Given the description of an element on the screen output the (x, y) to click on. 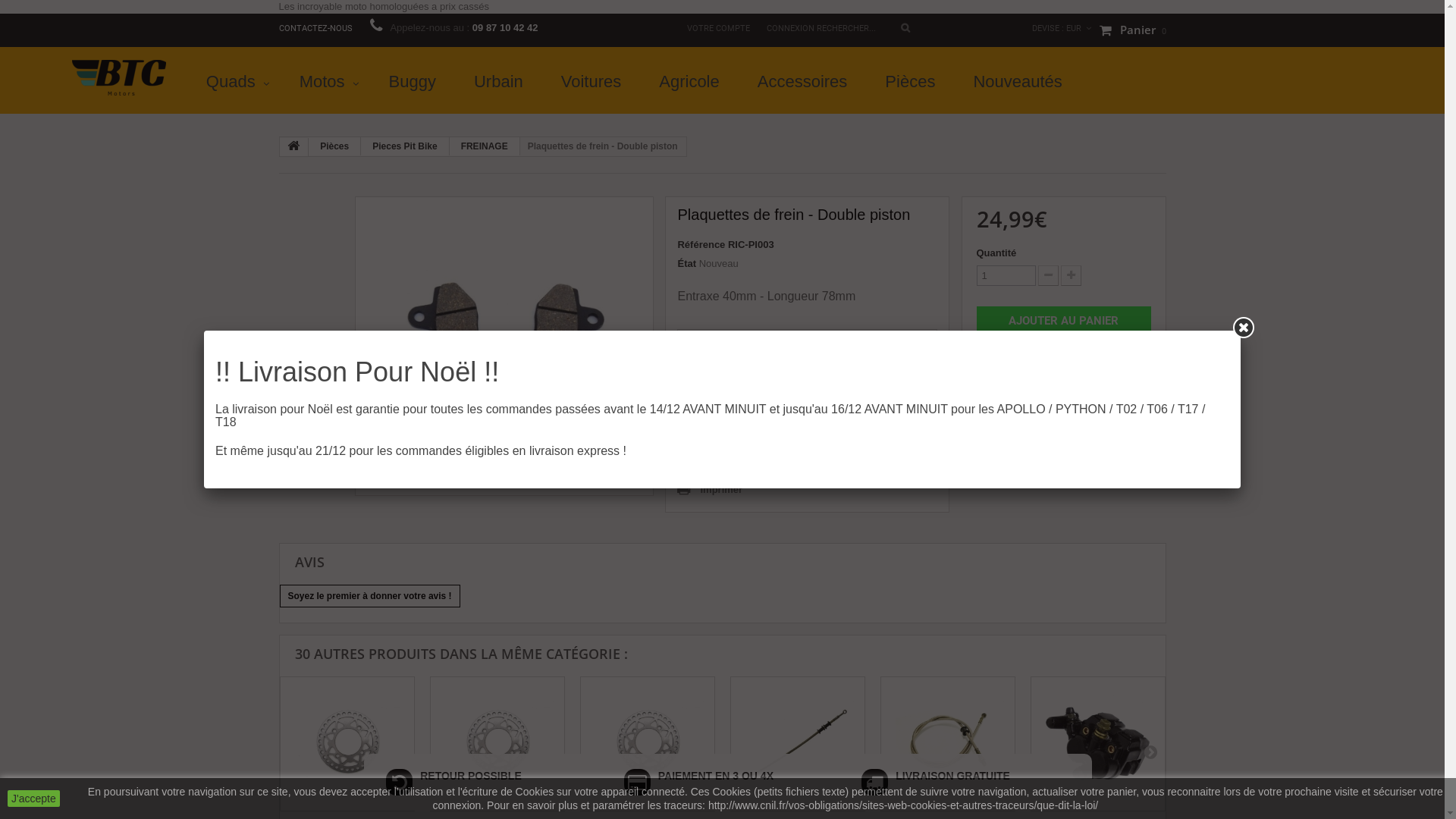
Disque de frein - 210 x 76mm Element type: hover (496, 743)
BTC Motors Element type: hover (119, 77)
Agricole Element type: text (692, 81)
CONNEXION Element type: text (790, 28)
Etrier de frein avant - Double piston Element type: hover (1096, 743)
FREINAGE Element type: text (484, 146)
Plaquettes de frein - Double piston Element type: hover (504, 345)
Donnez votre avis Element type: text (737, 347)
Pieces Pit Bike Element type: text (404, 146)
VOTRE COMPTE Element type: text (718, 28)
AJOUTER AU PANIER Element type: text (1063, 320)
Urbain Element type: text (502, 81)
Panier 0 Element type: text (1132, 30)
Accessoires Element type: text (806, 81)
Disque de frein - 220 x 76mm Element type: hover (646, 743)
Disque de frein - 200 x 76mm Element type: hover (346, 743)
CONTACTEZ-NOUS Element type: text (316, 28)
Buggy Element type: text (415, 81)
Voitures Element type: text (595, 81)
J'accepte Element type: text (33, 798)
Fermer Element type: hover (1243, 327)
Quads Element type: text (237, 81)
Imprimer Element type: text (709, 489)
Durite de frein avant - 8/8mm - Avia - Direct Element type: hover (946, 743)
Motos Element type: text (328, 81)
